Given the description of an element on the screen output the (x, y) to click on. 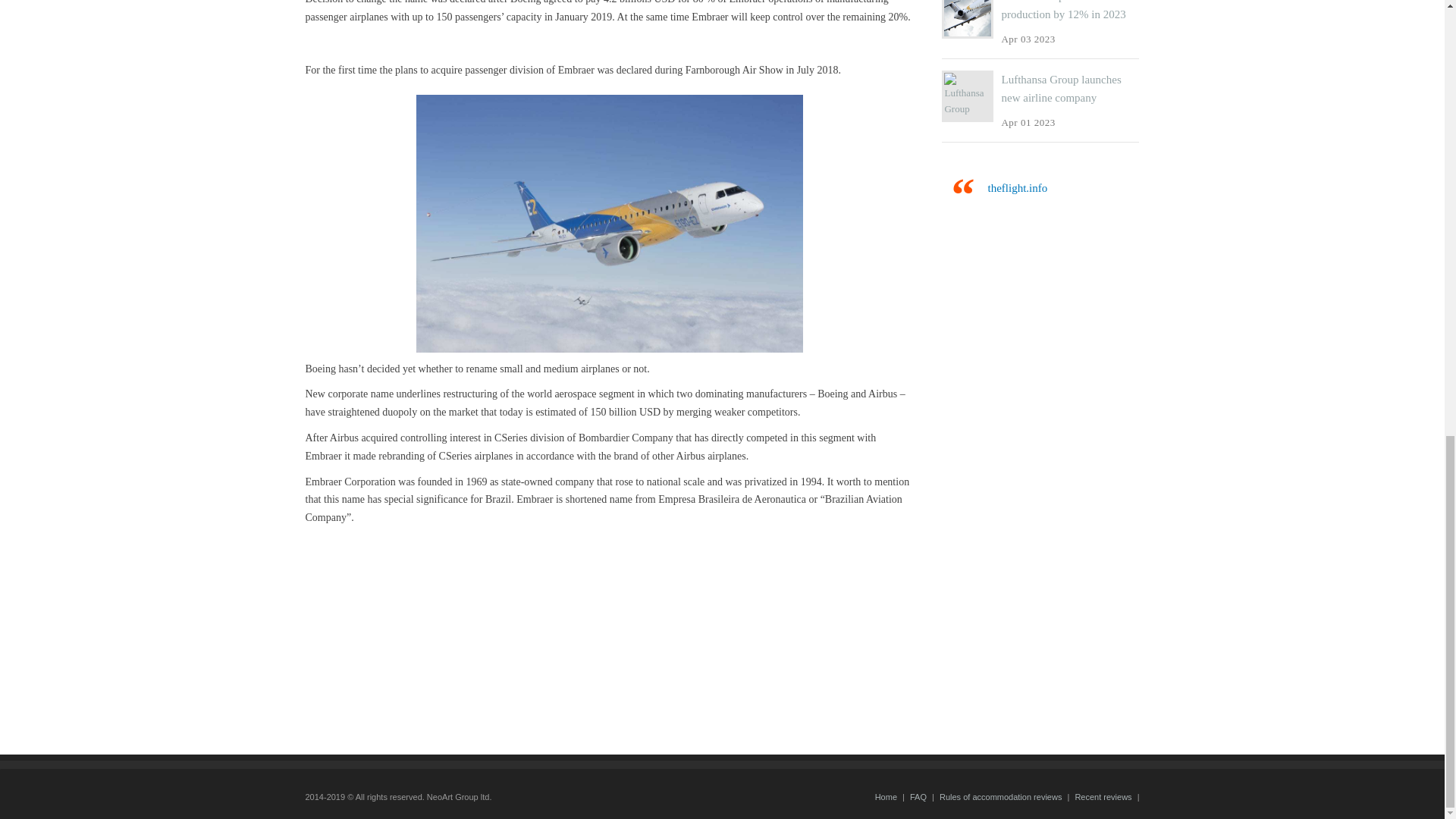
Lufthansa Group launches new airline company (1061, 88)
theflight.info (1016, 187)
FAQ (918, 796)
Recent reviews (1102, 796)
Home (885, 796)
Rules of accommodation reviews (1000, 796)
